Given the description of an element on the screen output the (x, y) to click on. 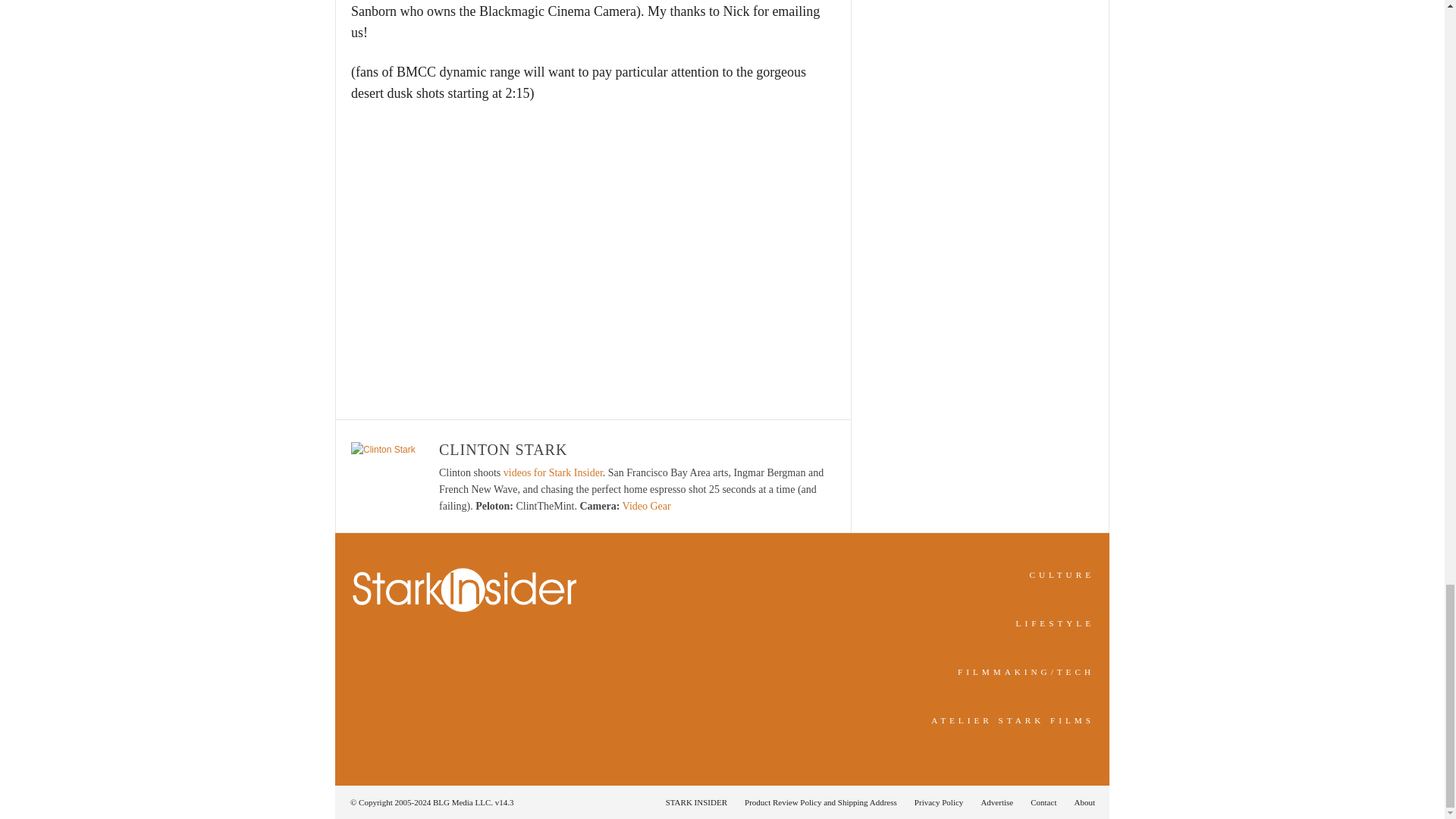
Product Review Policy and Shipping Address (820, 801)
Advertise (996, 801)
STARK INSIDER (696, 801)
CLINTON STARK (503, 449)
Contact (1043, 801)
About (1079, 801)
Video Gear (647, 505)
ATELIER STARK FILMS (1012, 719)
Privacy Policy (939, 801)
CULTURE (1061, 574)
